Given the description of an element on the screen output the (x, y) to click on. 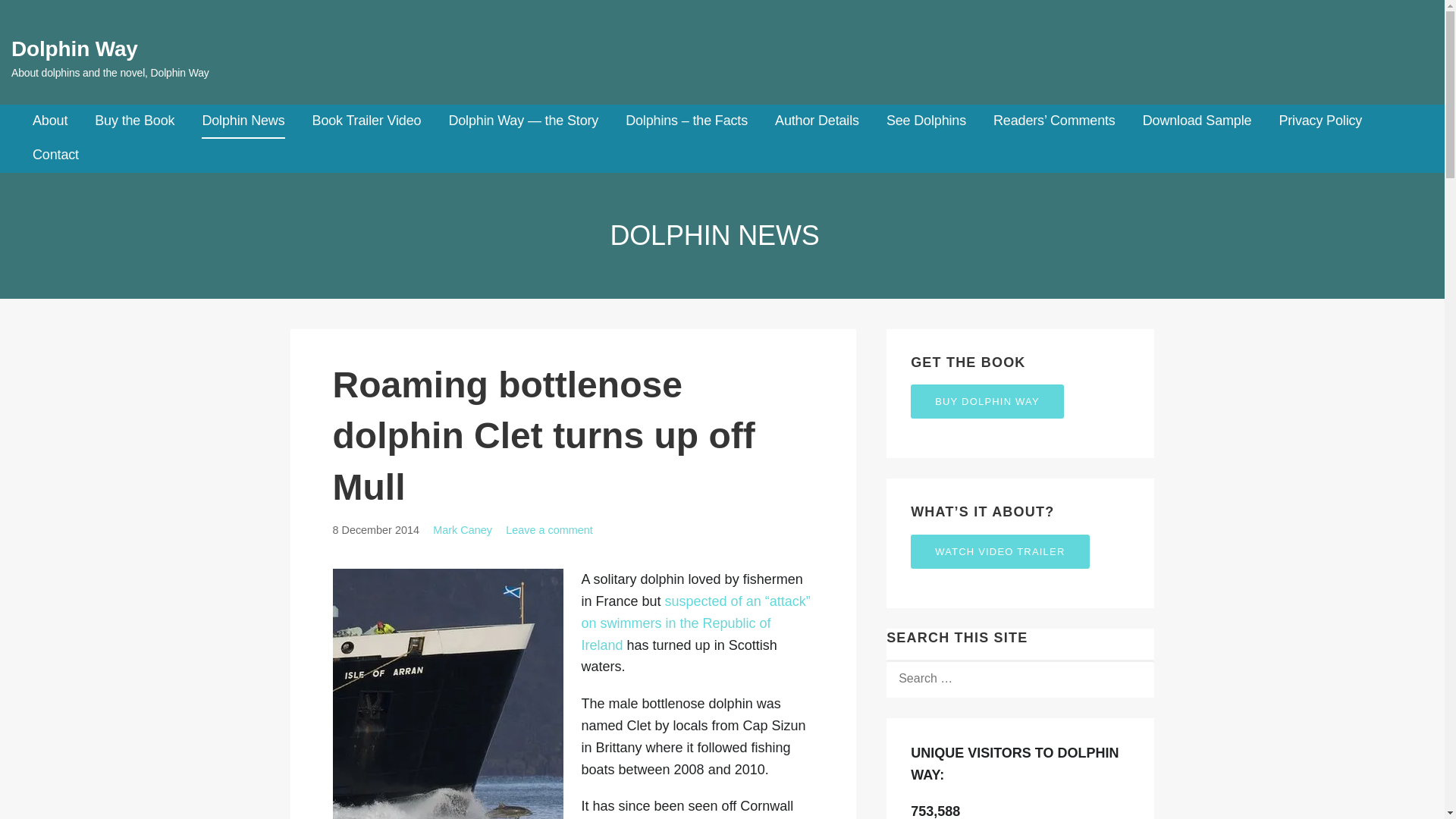
Author Details (816, 121)
Dolphin News (242, 121)
Dolphin Way (74, 48)
Book Trailer Video (367, 121)
Link to BBC story (694, 622)
See Dolphins (926, 121)
Download Sample (1197, 121)
Contact (55, 155)
Buy the Book (134, 121)
About (49, 121)
